Given the description of an element on the screen output the (x, y) to click on. 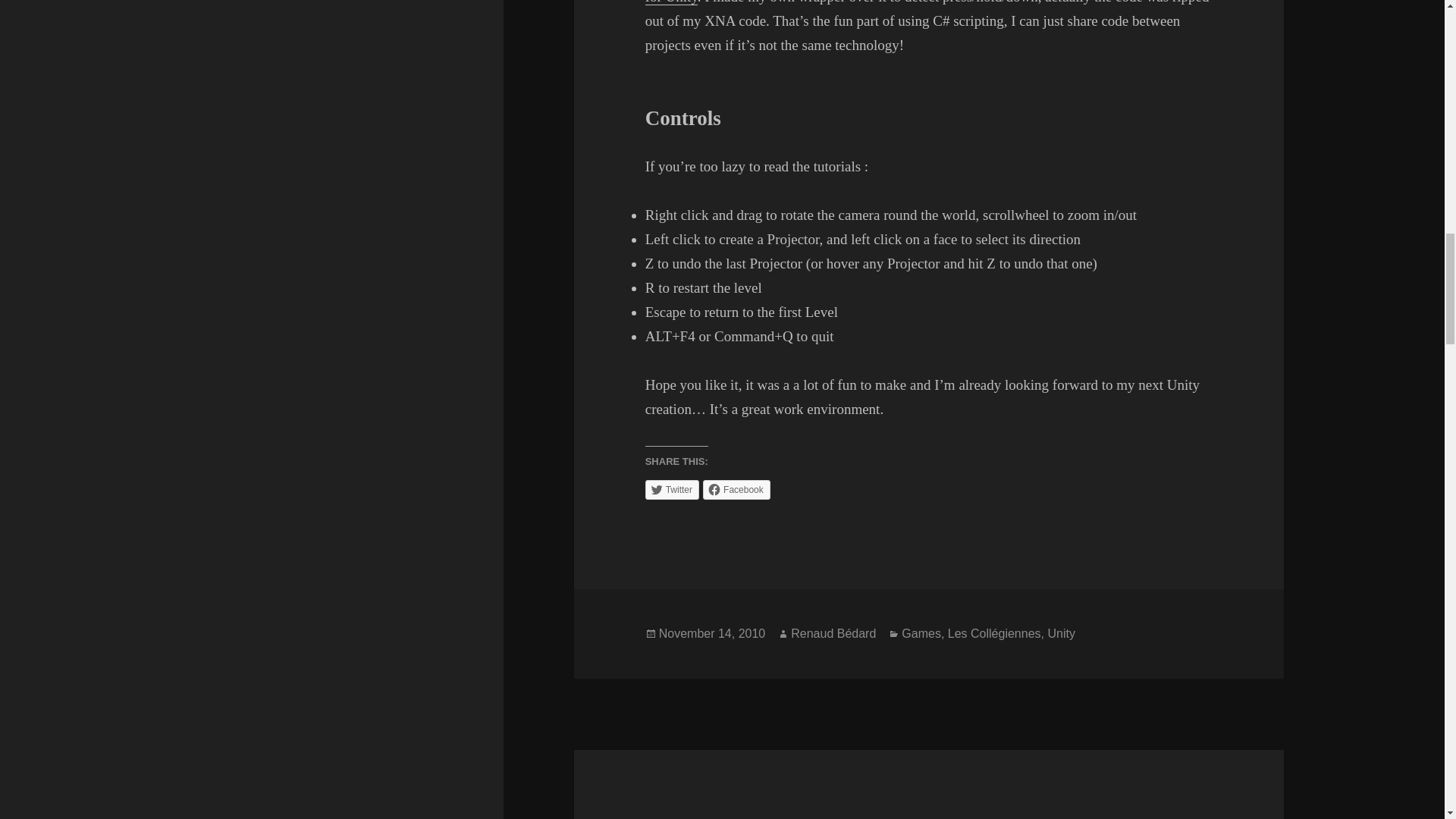
Click to share on Facebook (736, 489)
Games (920, 633)
Unity (1060, 633)
Facebook (736, 489)
November 14, 2010 (712, 633)
Click to share on Twitter (671, 489)
Twitter (671, 489)
